Given the description of an element on the screen output the (x, y) to click on. 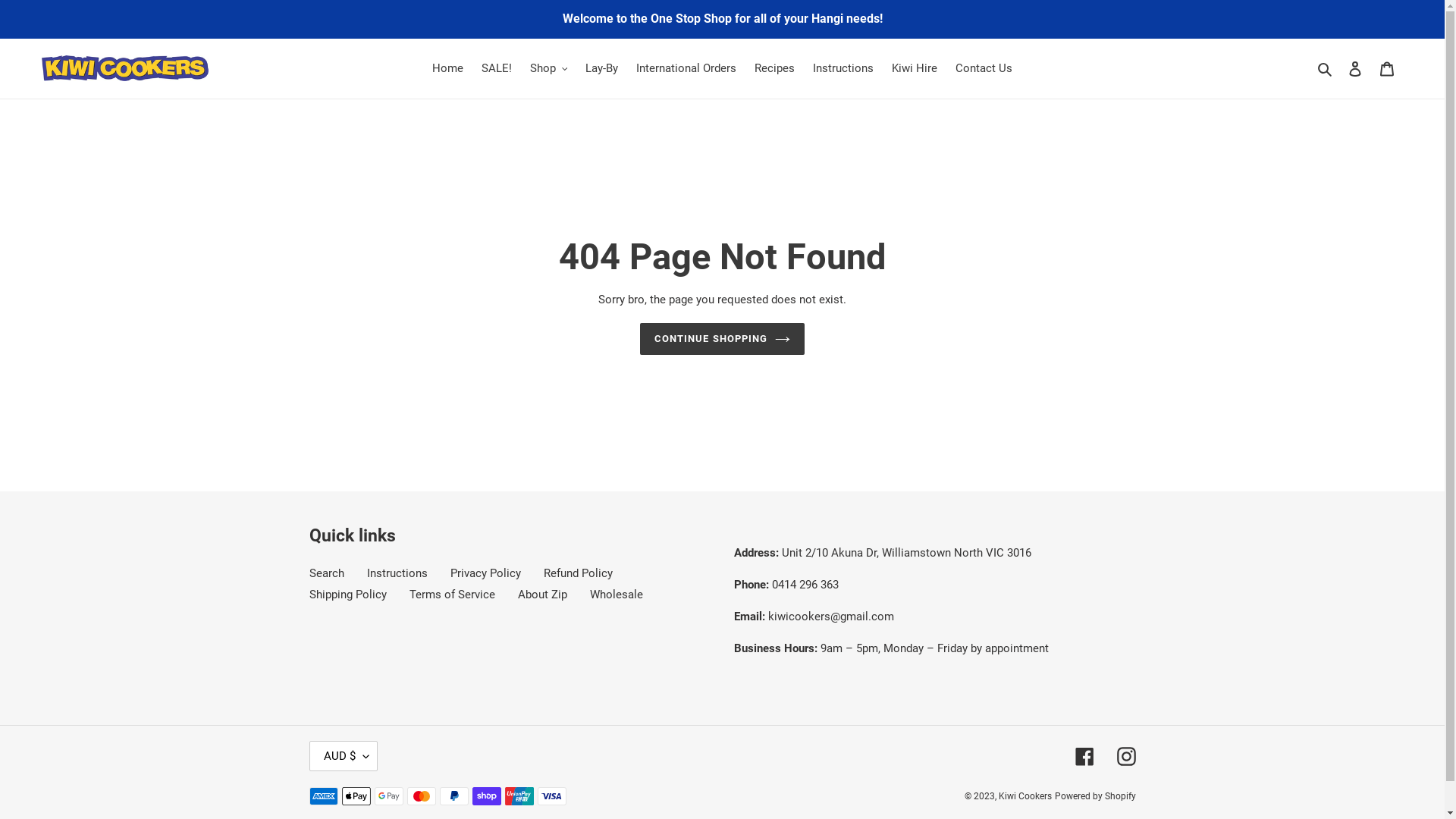
Refund Policy Element type: text (576, 573)
Cart Element type: text (1386, 68)
Search Element type: text (1325, 68)
Home Element type: text (447, 68)
Shop Element type: text (548, 68)
Lay-By Element type: text (601, 68)
Kiwi Hire Element type: text (914, 68)
CONTINUE SHOPPING Element type: text (722, 338)
Instagram Element type: text (1125, 755)
Kiwi Cookers Element type: text (1024, 795)
AUD $ Element type: text (343, 755)
About Zip Element type: text (541, 594)
SALE! Element type: text (496, 68)
Search Element type: text (326, 573)
Wholesale Element type: text (616, 594)
Contact Us Element type: text (983, 68)
Shipping Policy Element type: text (347, 594)
Instructions Element type: text (397, 573)
Recipes Element type: text (774, 68)
International Orders Element type: text (685, 68)
Log in Element type: text (1355, 68)
Welcome to the One Stop Shop for all of your Hangi needs! Element type: text (722, 18)
Instructions Element type: text (843, 68)
Terms of Service Element type: text (452, 594)
Privacy Policy Element type: text (485, 573)
Powered by Shopify Element type: text (1094, 795)
Facebook Element type: text (1084, 755)
